Given the description of an element on the screen output the (x, y) to click on. 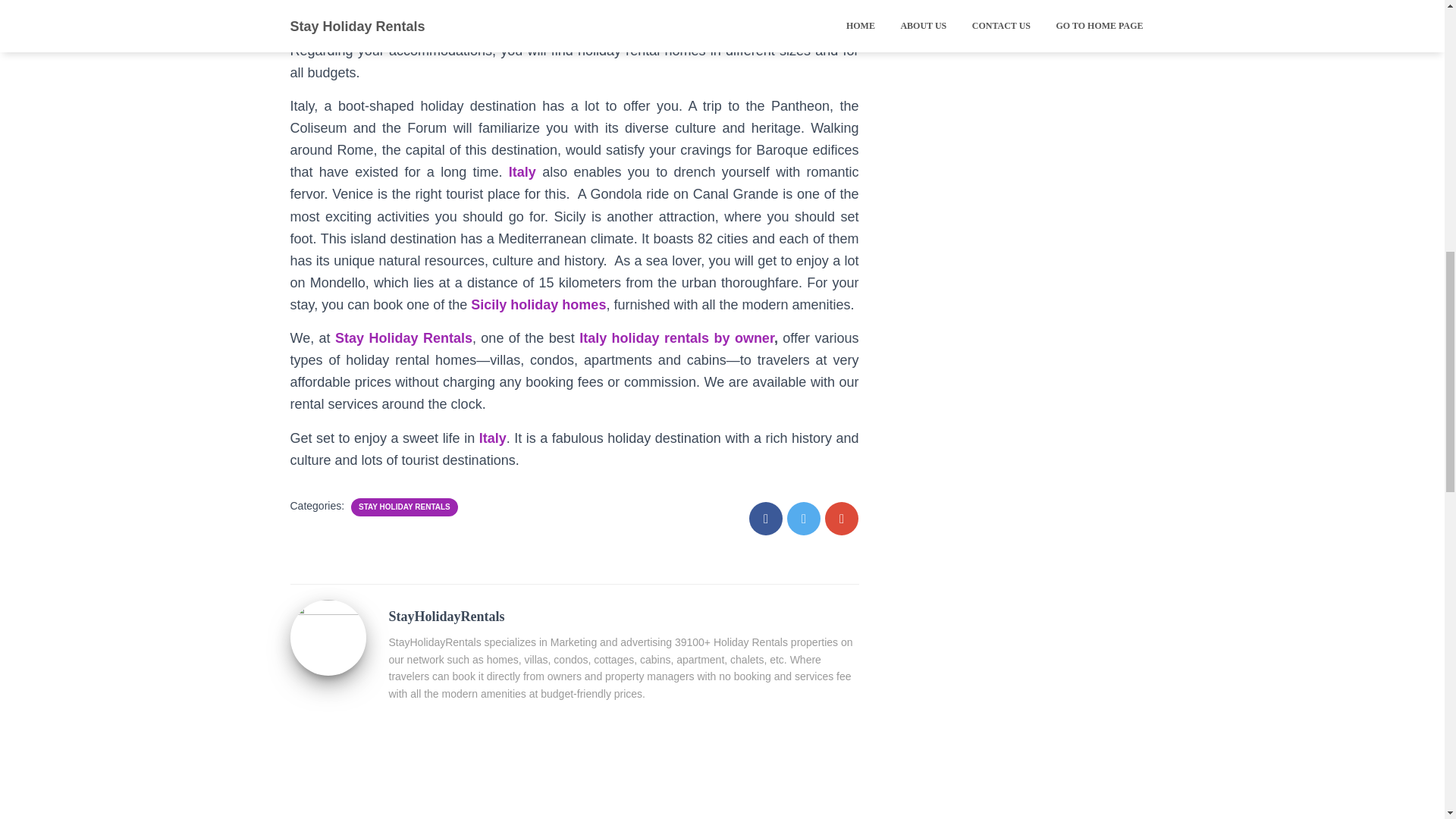
Stay Holiday Rentals (402, 337)
Italy (521, 171)
Italy holiday rentals by owner (676, 337)
Italy (492, 437)
STAY HOLIDAY RENTALS (403, 507)
Sicily holiday homes (537, 304)
StayHolidayRentals (327, 635)
Stay Holiday Rentals (1000, 1)
